Given the description of an element on the screen output the (x, y) to click on. 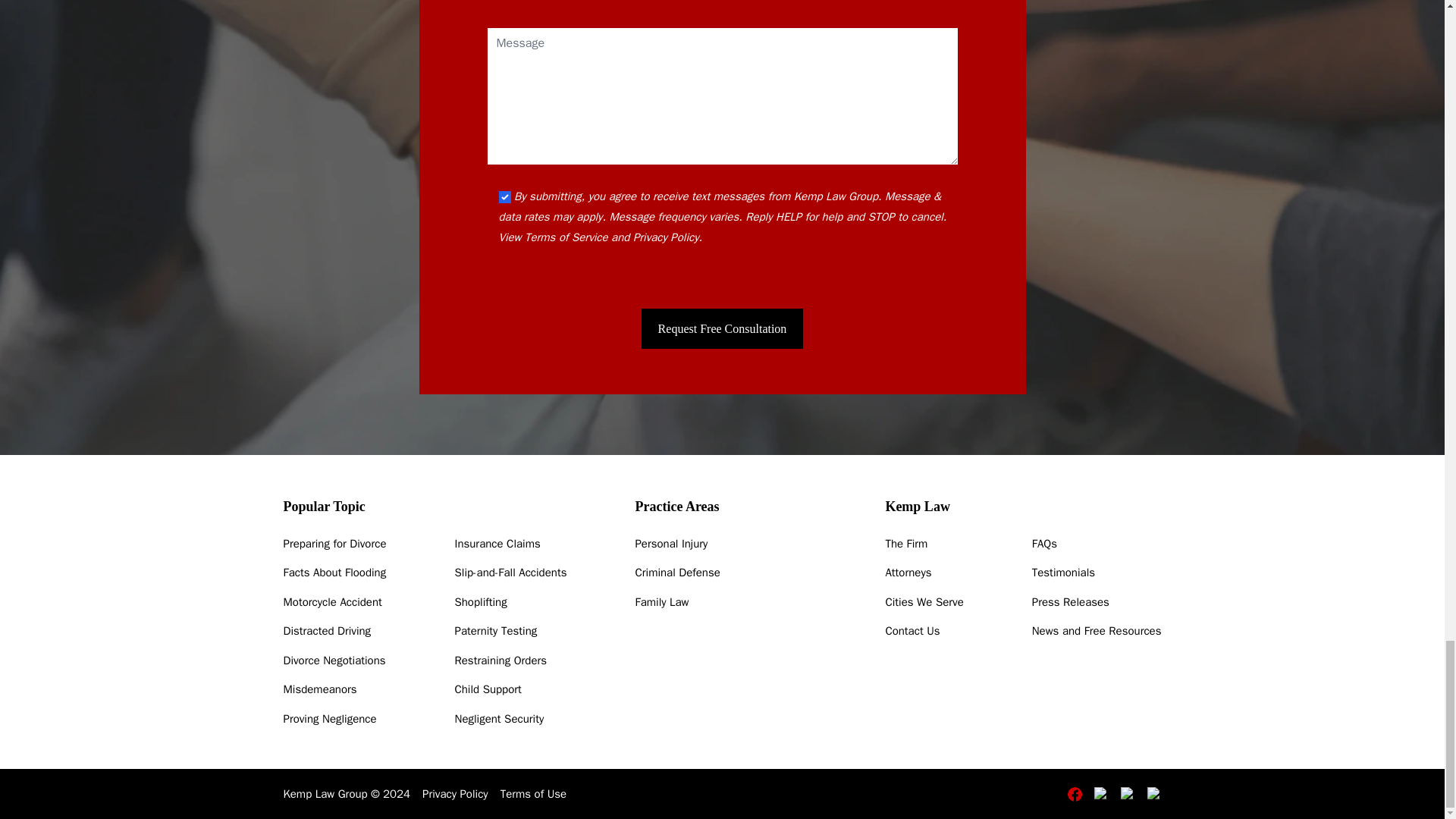
1 (505, 196)
Request Free Consultation (722, 328)
